Given the description of an element on the screen output the (x, y) to click on. 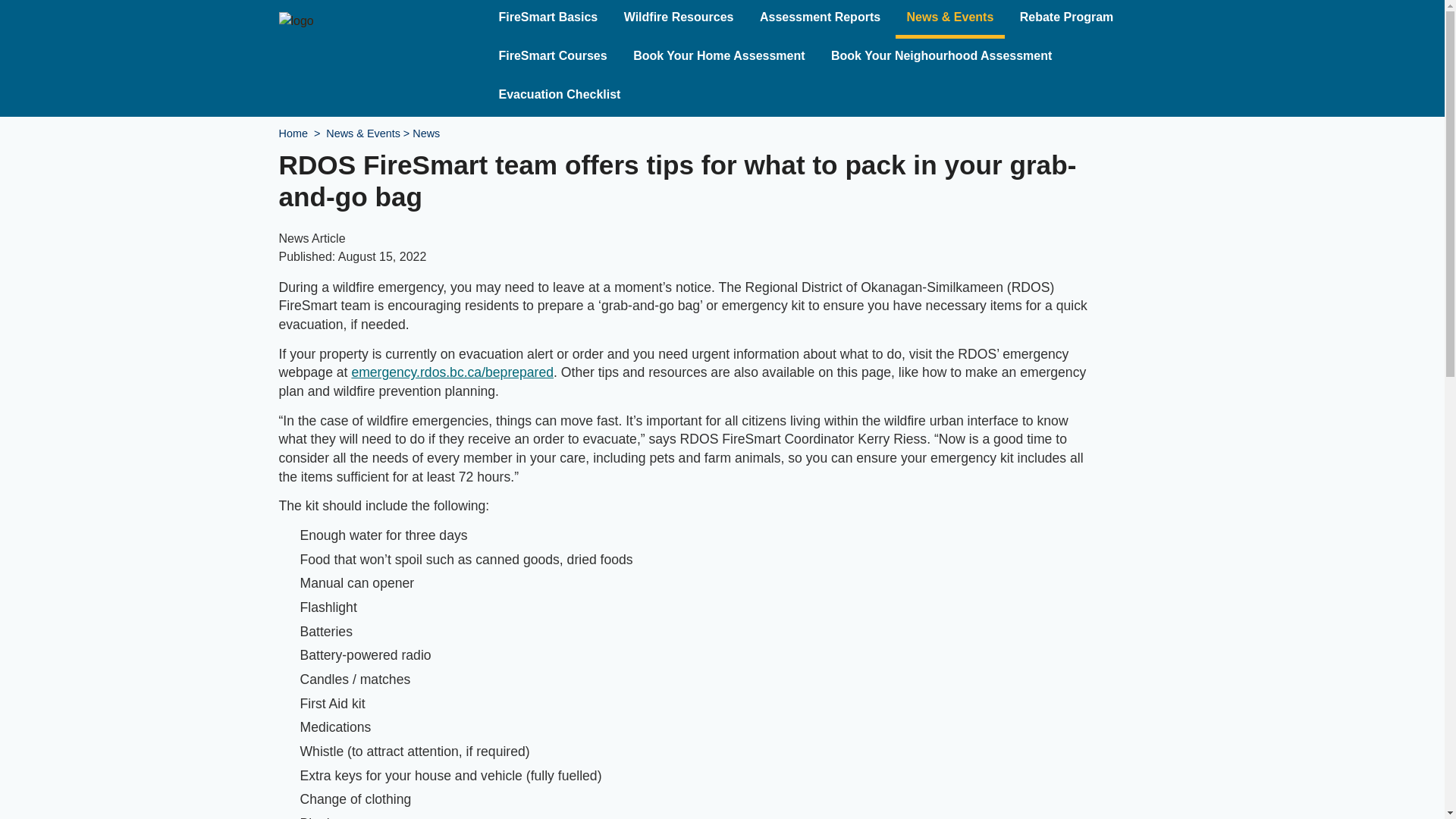
Assessment Reports Element type: text (819, 19)
Book Your Neighourhood Assessment Element type: text (941, 57)
Rebate Program Element type: text (1066, 19)
News & Events Element type: text (363, 133)
RDOS Community FireSmart Element type: hover (296, 19)
Wildfire Resources Element type: text (678, 19)
Skip to Content Element type: text (0, 0)
News & Events Element type: text (950, 19)
FireSmart Basics Element type: text (547, 19)
FireSmart Courses Element type: text (552, 57)
Evacuation Checklist Element type: text (558, 96)
Home Element type: text (293, 133)
emergency.rdos.bc.ca/beprepared Element type: text (452, 371)
Book Your Home Assessment Element type: text (718, 57)
